Given the description of an element on the screen output the (x, y) to click on. 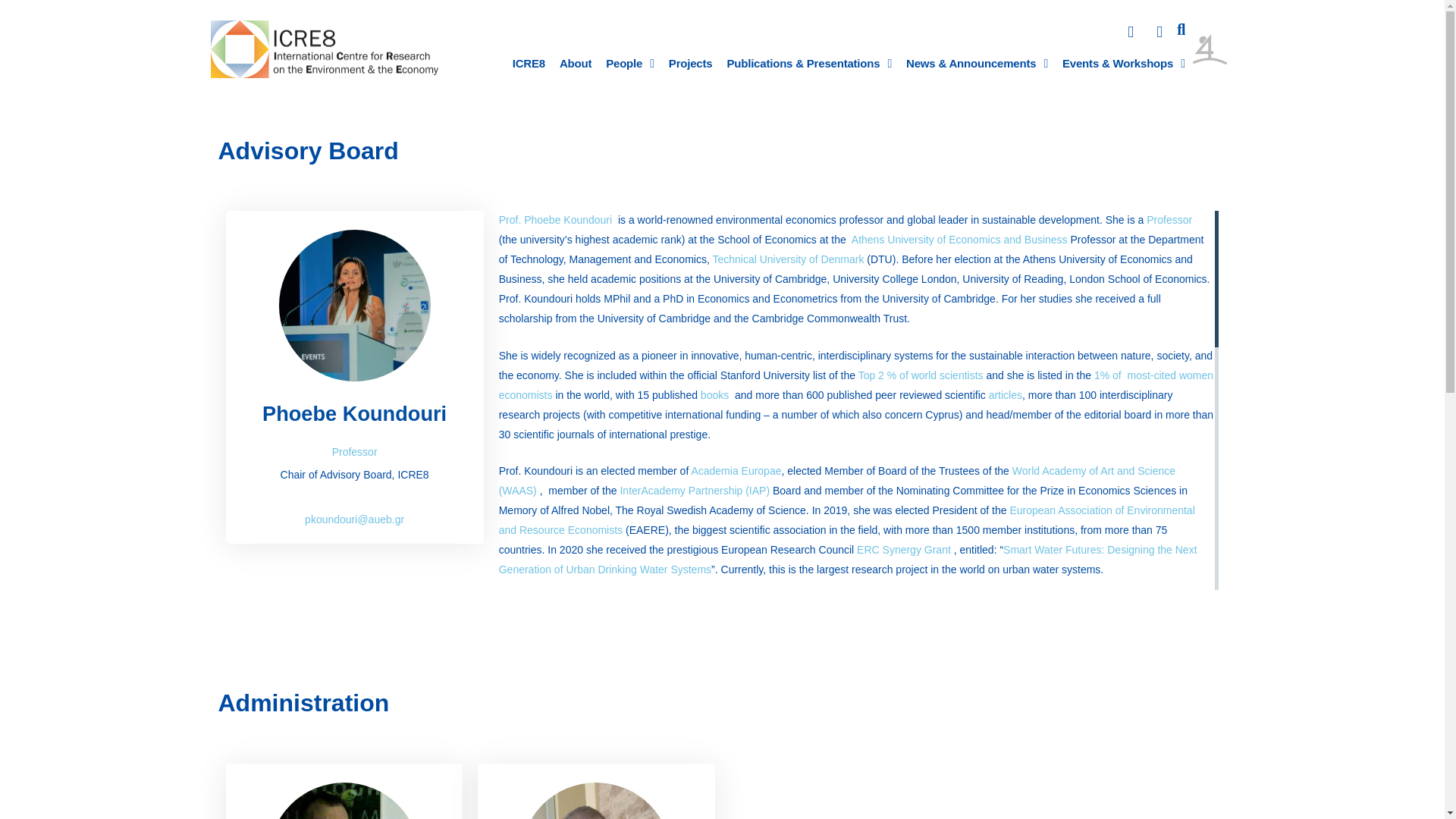
About (575, 63)
Projects (690, 63)
People (630, 63)
ICRE8 (528, 63)
